Given the description of an element on the screen output the (x, y) to click on. 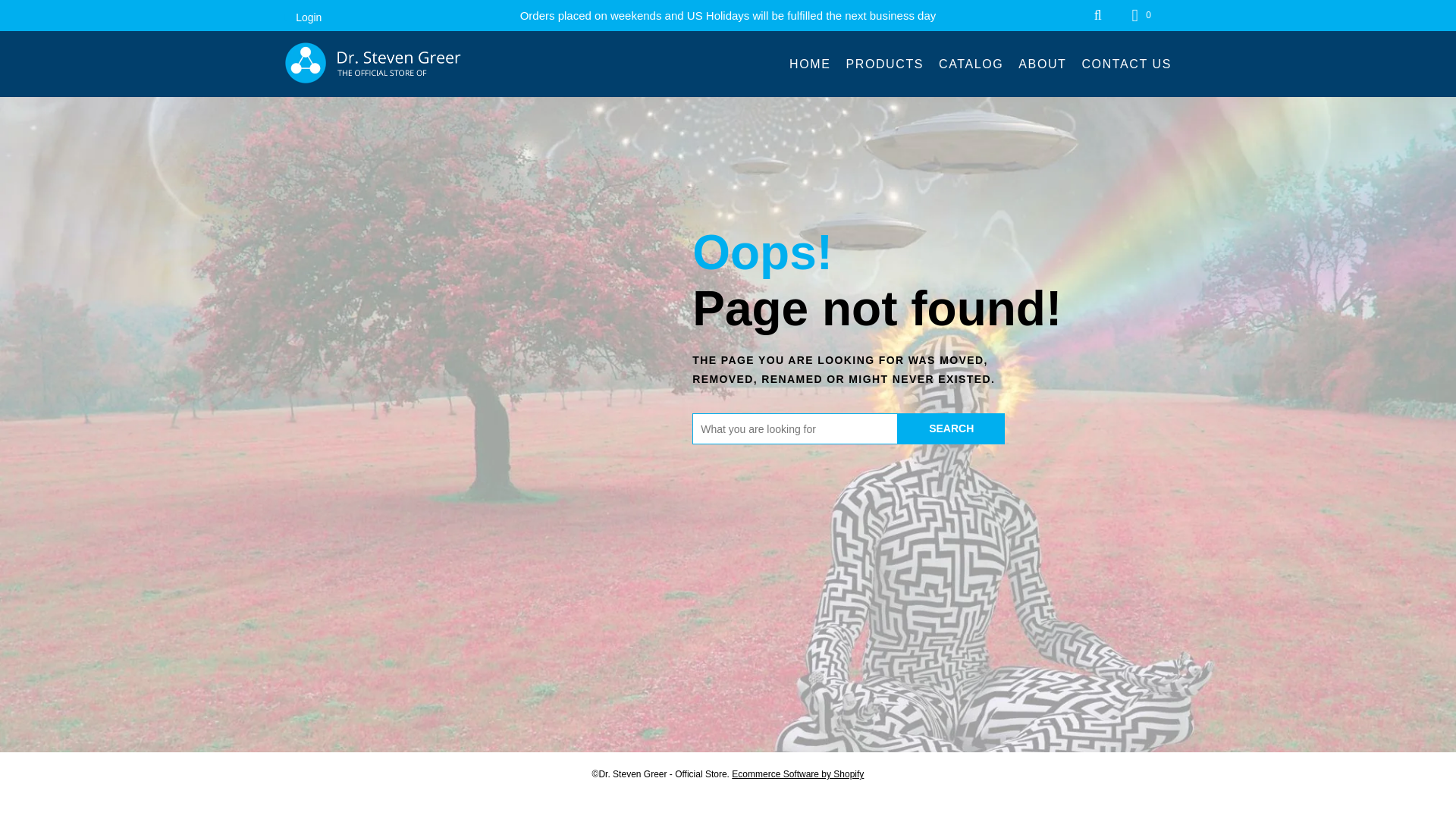
Login (302, 17)
0 (1142, 15)
ABOUT (1041, 63)
CONTACT US (1126, 63)
Ecommerce Software by Shopify (797, 774)
SEARCH (951, 428)
Login (302, 17)
PRODUCTS (884, 63)
CATALOG (971, 63)
HOME (809, 63)
